Given the description of an element on the screen output the (x, y) to click on. 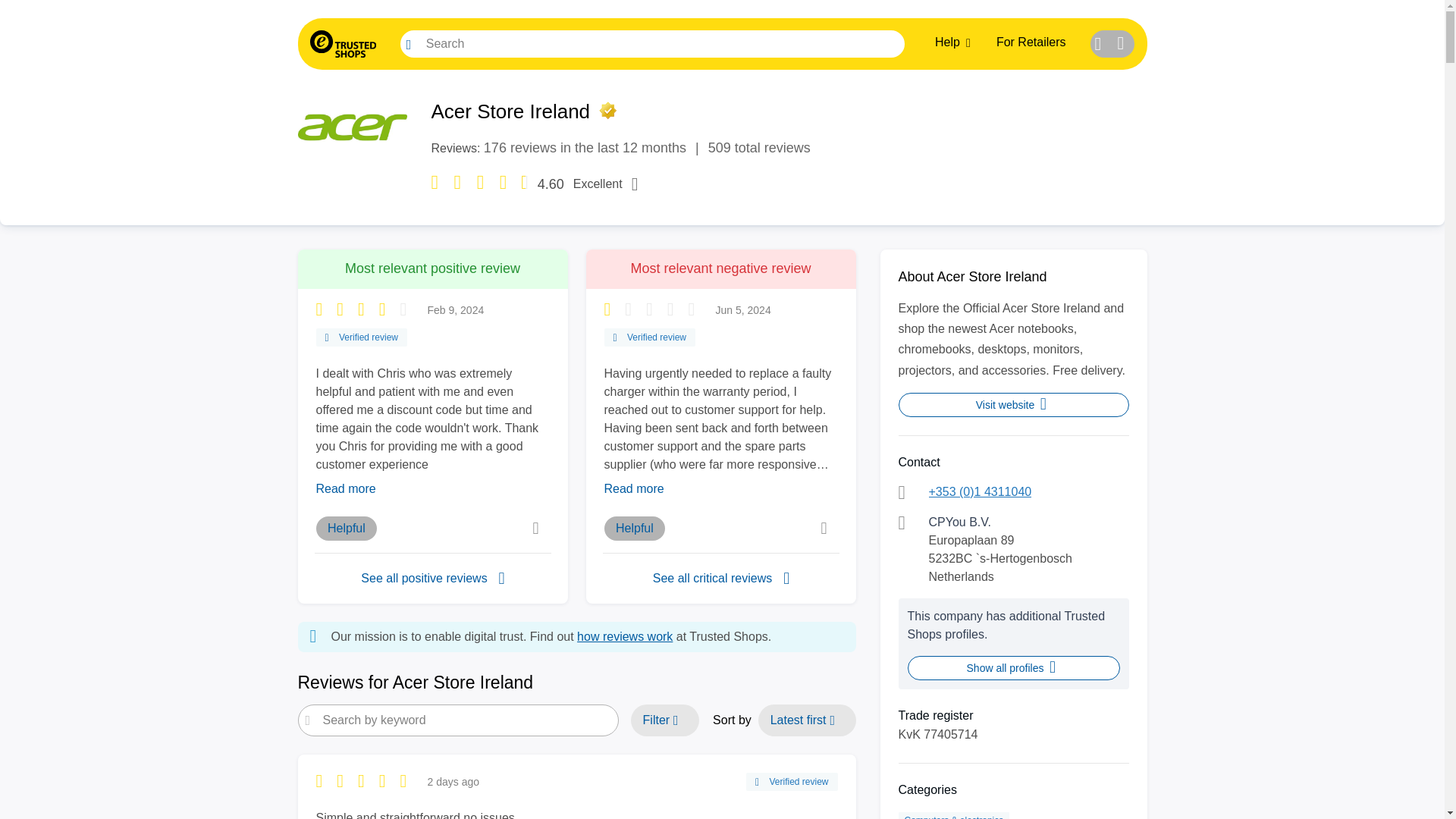
Trusted Shops logo (341, 43)
Helpful (634, 528)
Helpful (346, 528)
Visit website (722, 43)
See all critical reviews (1013, 404)
For Retailers (720, 578)
See all positive reviews (1030, 42)
how reviews work (432, 578)
Show all profiles (624, 635)
